Given the description of an element on the screen output the (x, y) to click on. 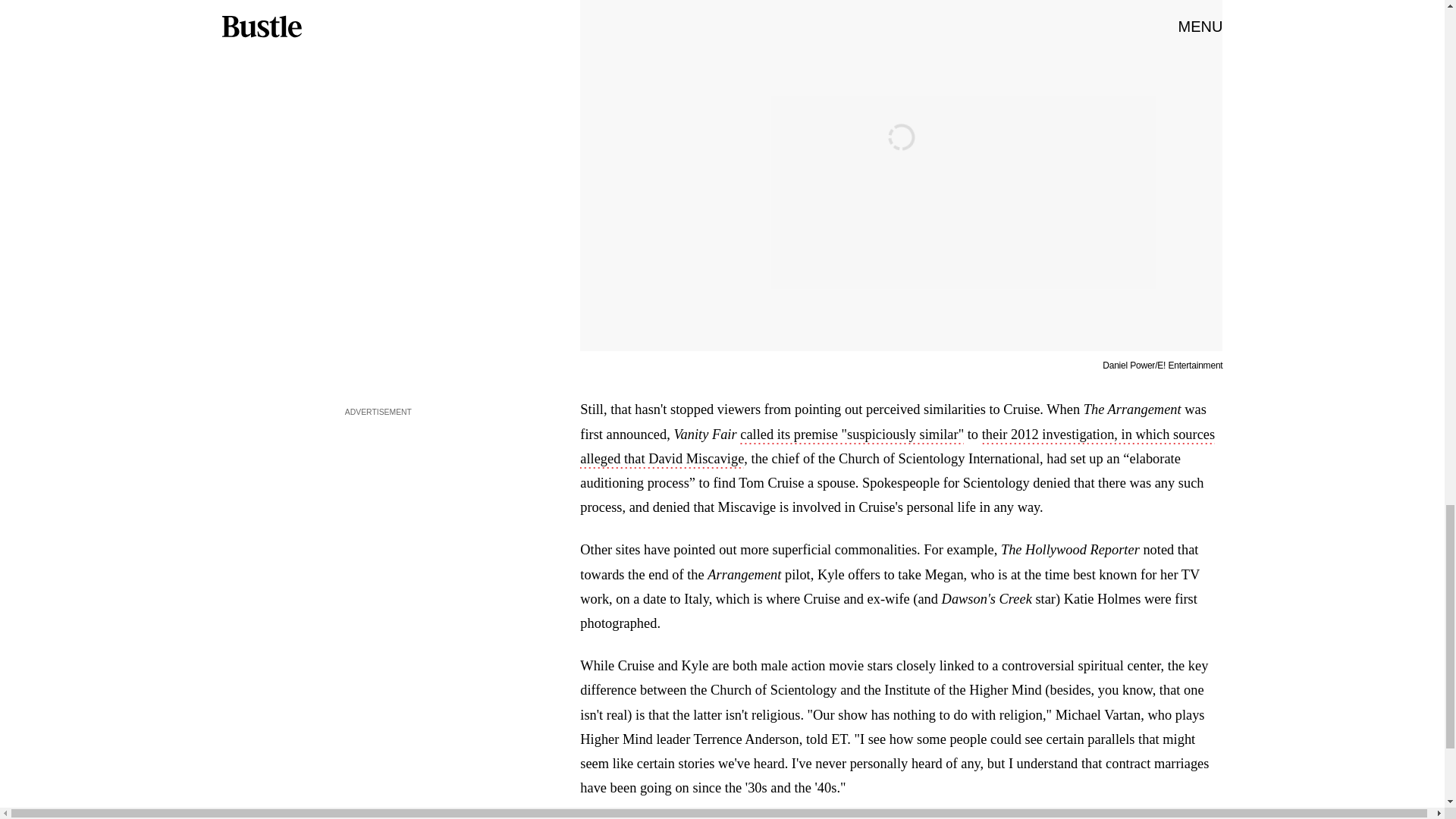
called its premise "suspiciously similar" (851, 435)
